Given the description of an element on the screen output the (x, y) to click on. 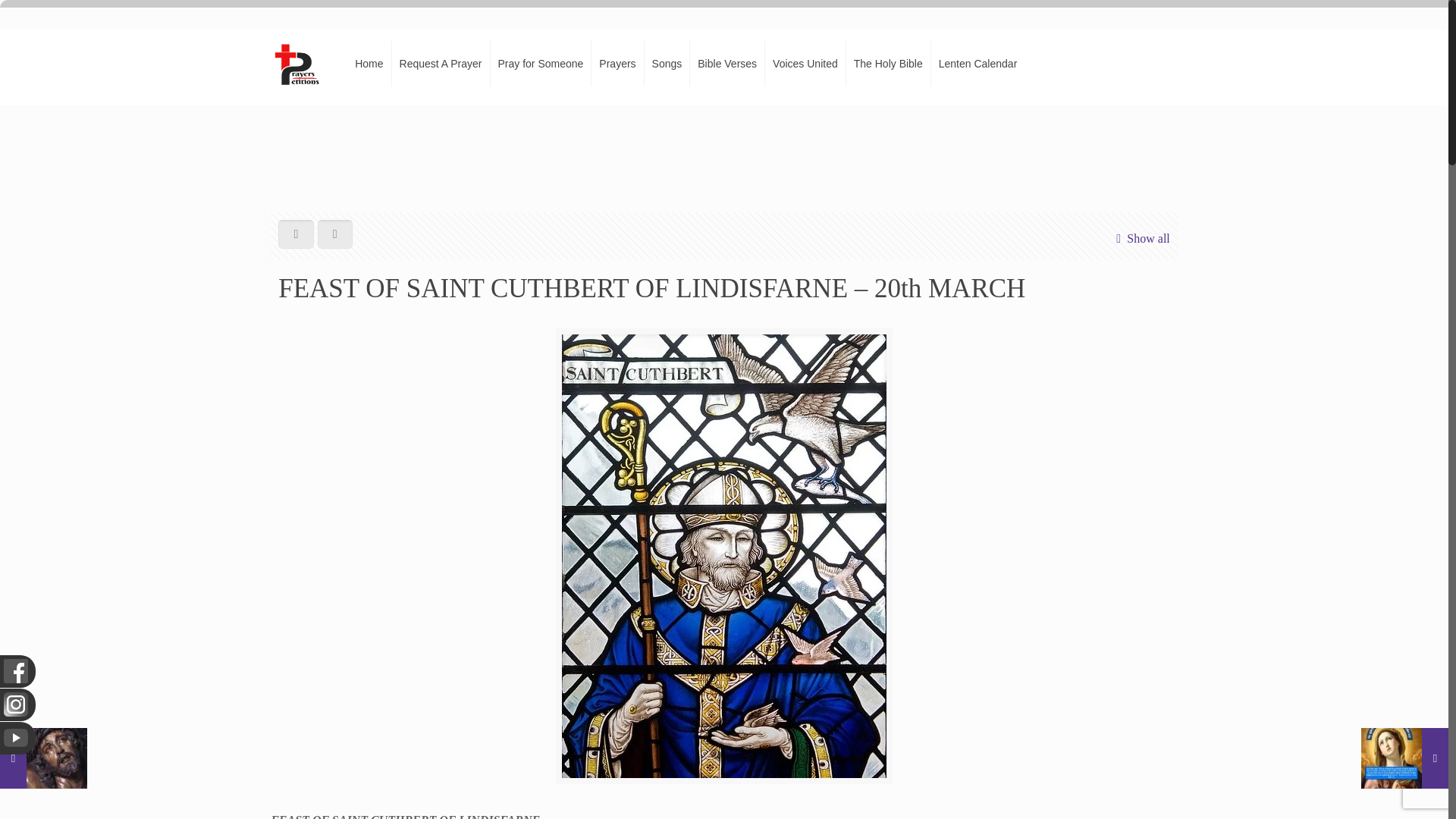
The Holy Bible (888, 63)
Pray for Someone (540, 63)
Voices United (805, 63)
Show all (1139, 238)
Request A Prayer (440, 63)
Lenten Calendar (978, 63)
Bible Verses (727, 63)
